Given the description of an element on the screen output the (x, y) to click on. 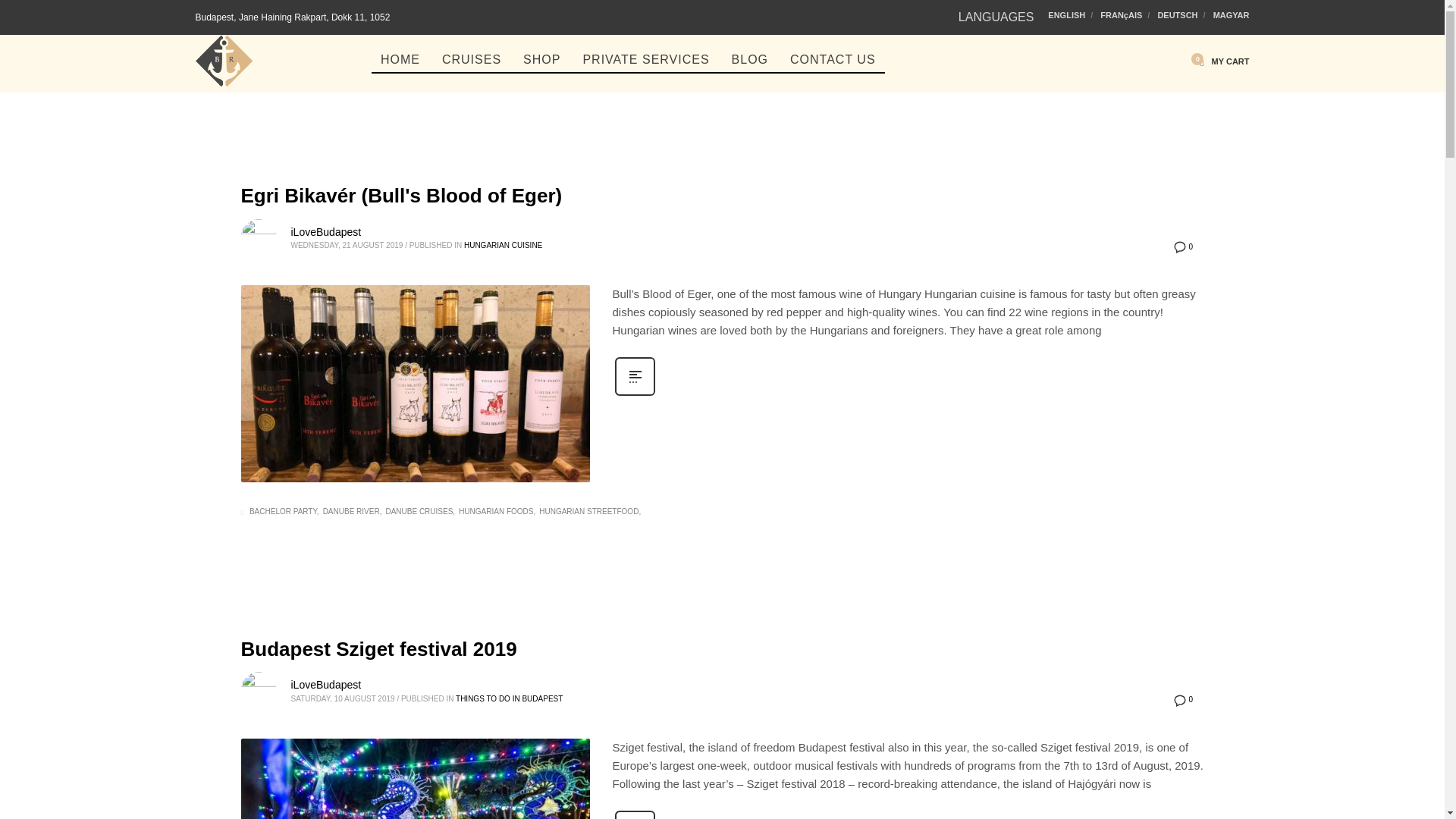
DEUTSCH (1181, 14)
Budapest Sziget festival 2019 (415, 778)
BLOG (749, 58)
CRUISES (471, 58)
185 (415, 383)
PRIVATE SERVICES (645, 58)
SHOP (541, 58)
Posts by iLoveBudapest (326, 232)
MAGYAR (1230, 14)
One of the best activities in Budapest! (224, 60)
